Given the description of an element on the screen output the (x, y) to click on. 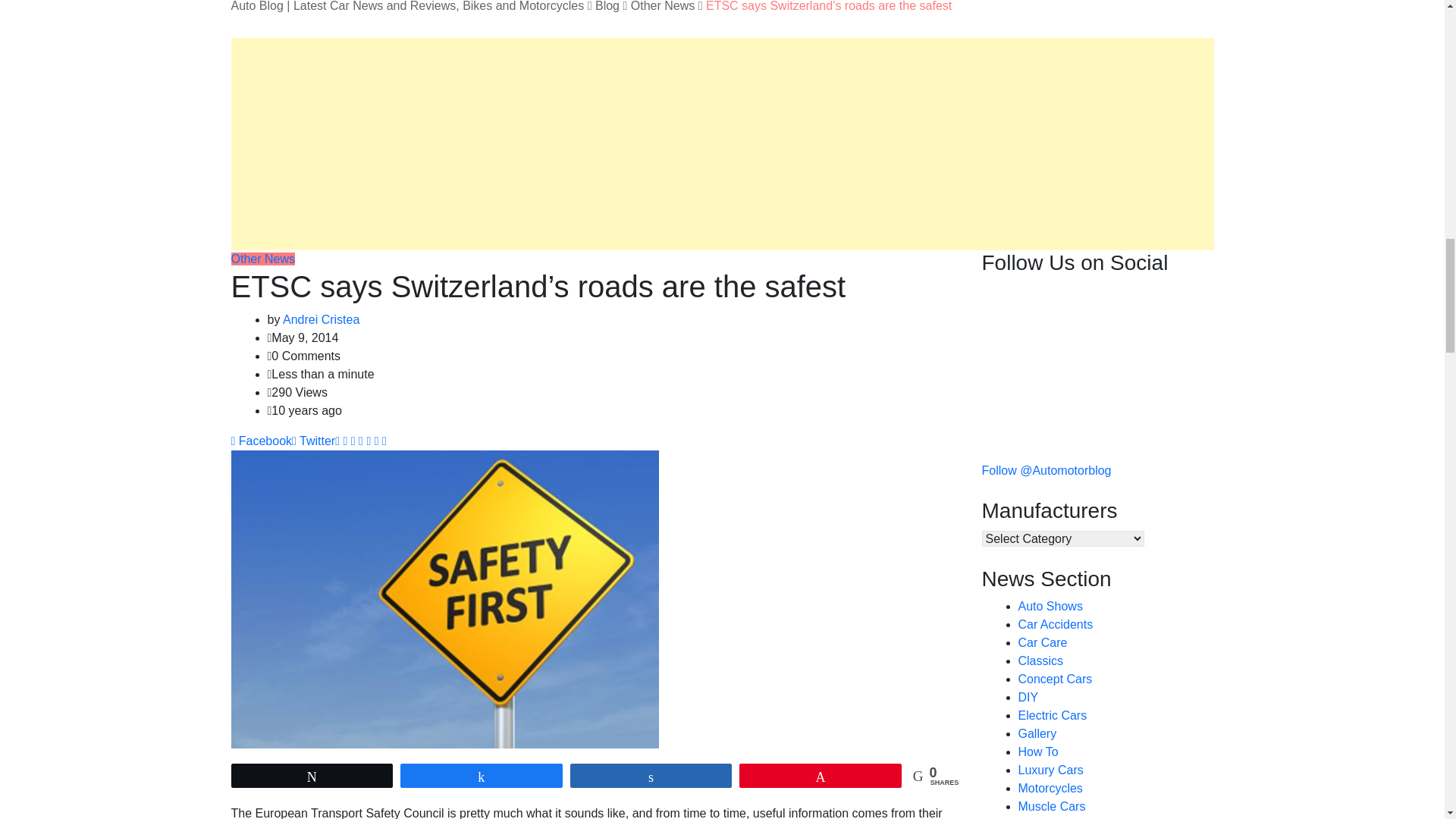
Go to Blog. (607, 6)
Go to the Other News Category archives. (662, 6)
Posts by Andrei Cristea (320, 318)
